Given the description of an element on the screen output the (x, y) to click on. 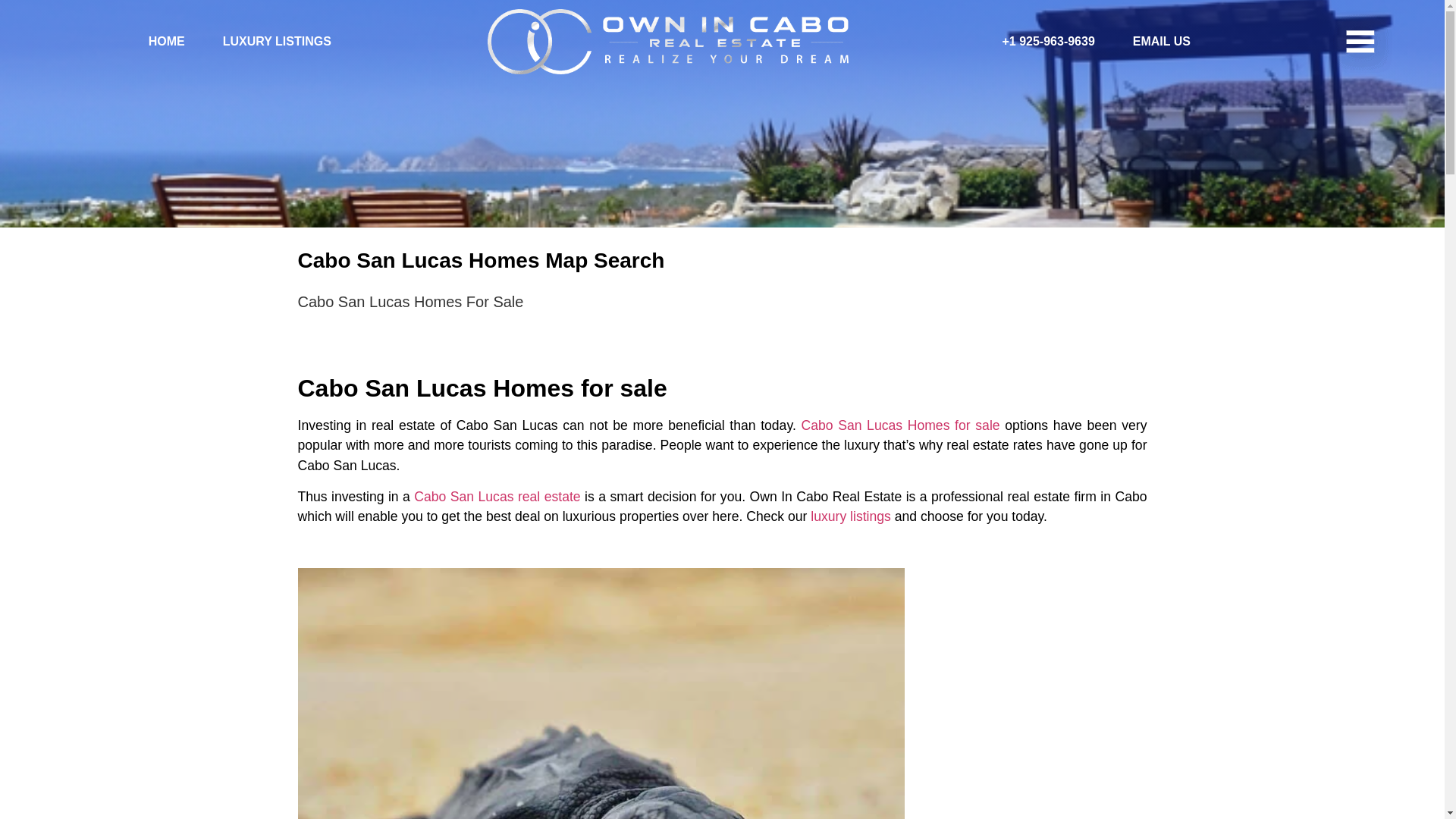
LUXURY LISTINGS (267, 41)
HOME (156, 41)
Cabo San Lucas Homes for sale (899, 425)
EMAIL US (1152, 41)
luxury listings (850, 516)
Cabo San Lucas real estate (496, 496)
